Given the description of an element on the screen output the (x, y) to click on. 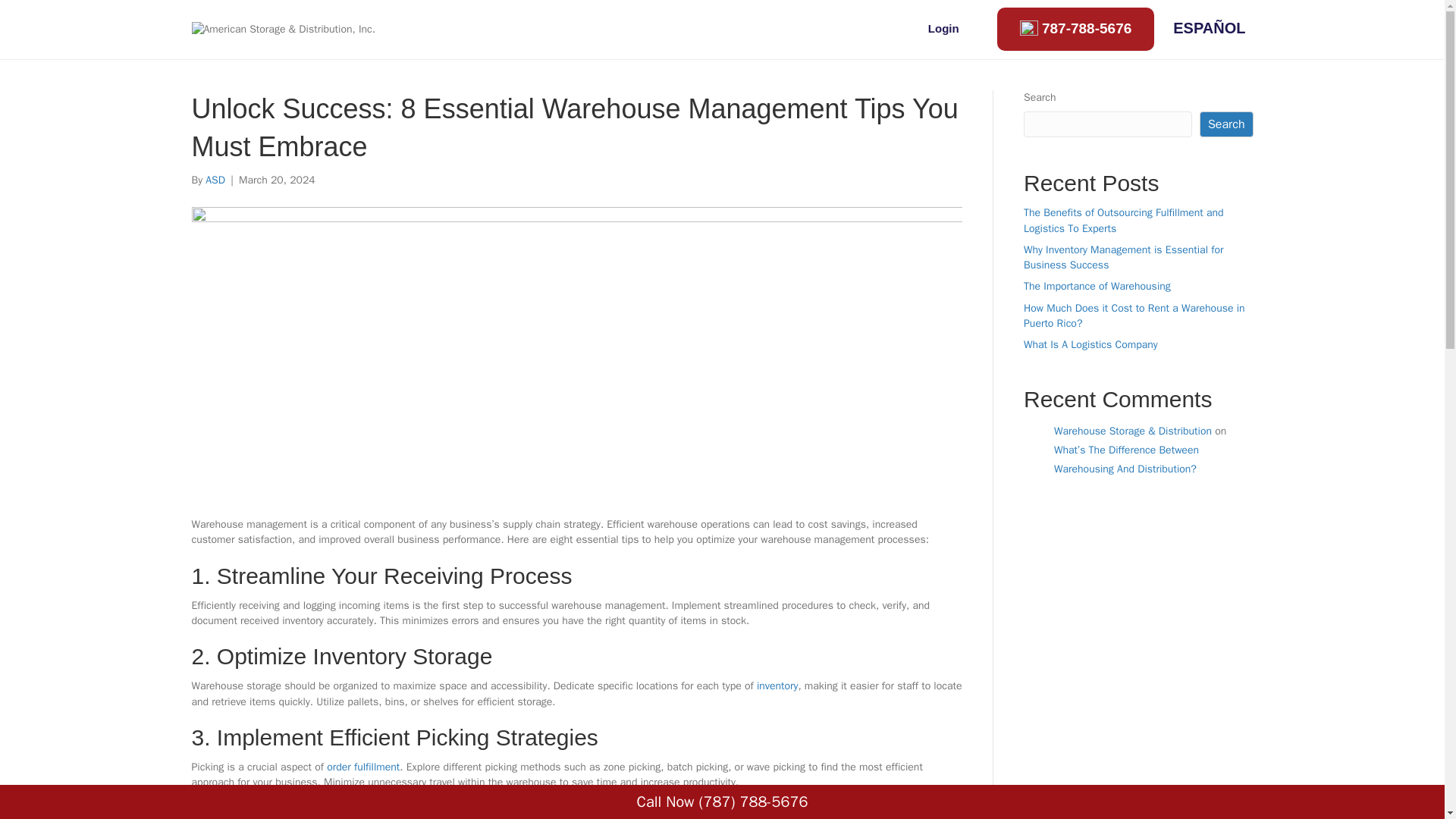
inventory (777, 685)
Login (943, 28)
Search (1226, 124)
787-788-5676 (1075, 28)
Services (612, 29)
The Importance of Warehousing (1096, 286)
What Is A Logistics Company (1090, 344)
How Much Does it Cost to Rent a Warehouse in Puerto Rico? (1133, 316)
About (683, 29)
Why Inventory Management is Essential for Business Success (1123, 257)
order fulfillment (362, 766)
Blog (796, 29)
ASD (215, 179)
Jobs (742, 29)
